Given the description of an element on the screen output the (x, y) to click on. 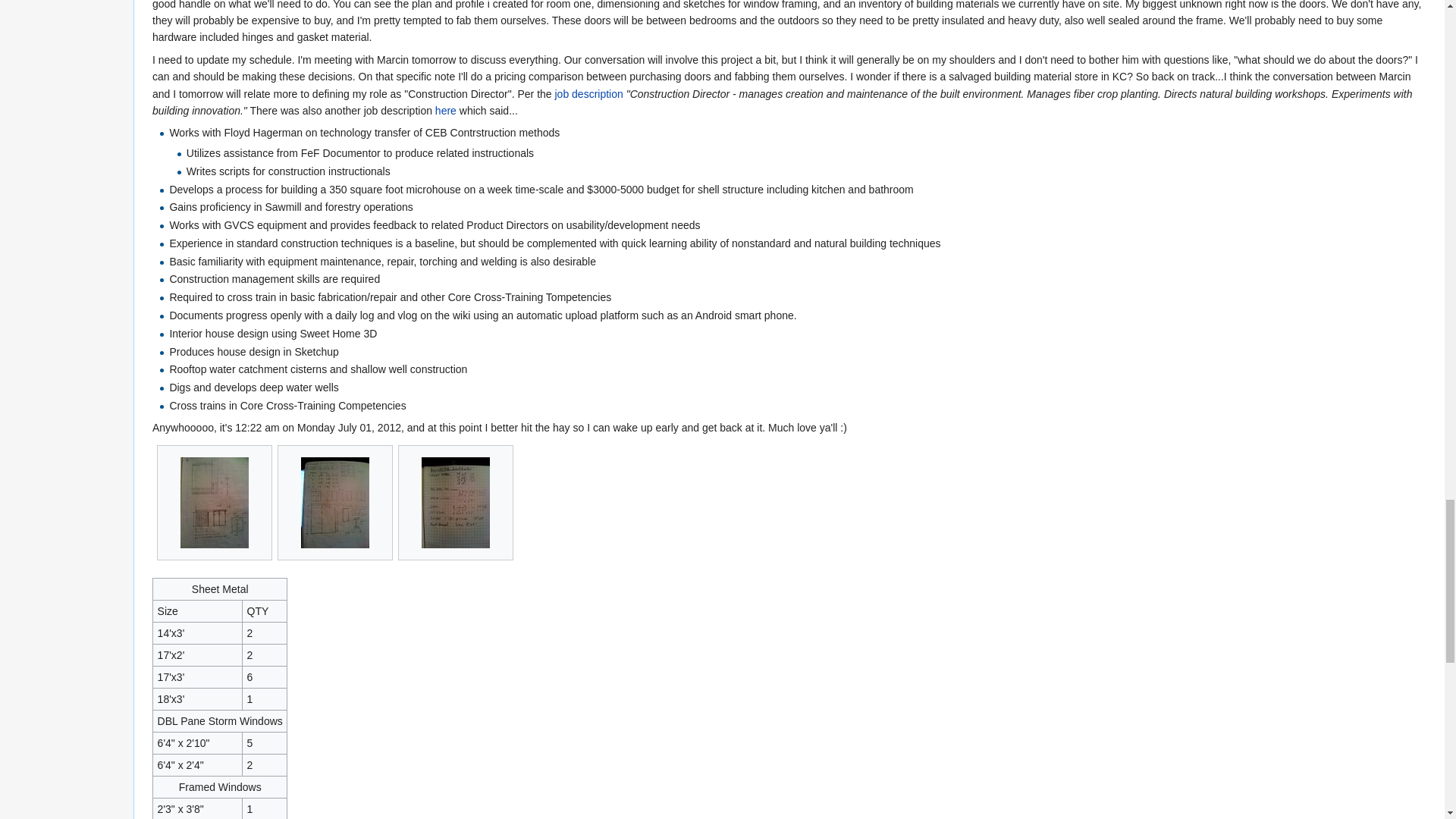
Team Role Descriptions (446, 110)
Factor e Farm Roles and Responsibilities (588, 93)
job description (588, 93)
